Given the description of an element on the screen output the (x, y) to click on. 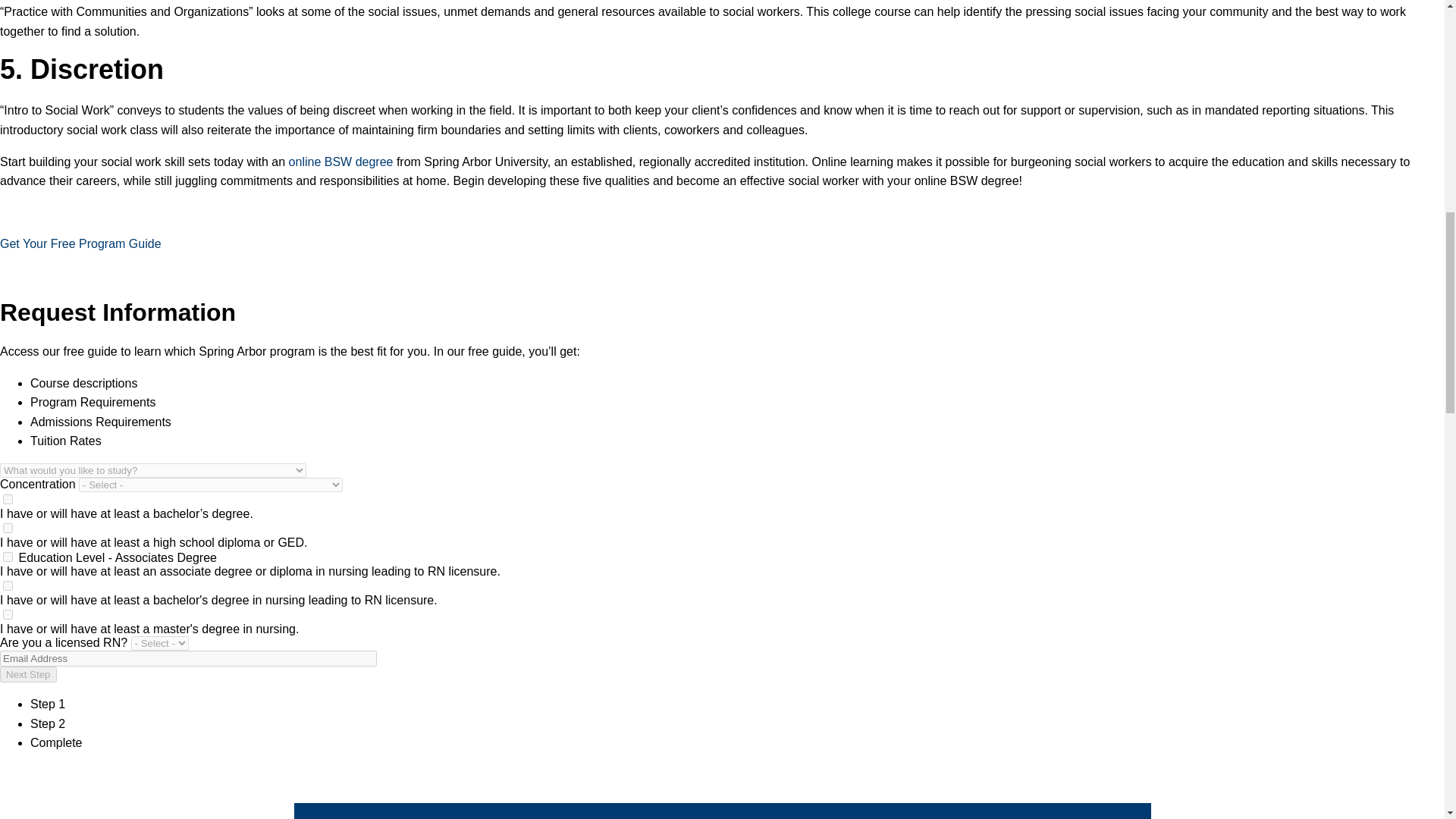
Next Step (28, 674)
Next Step (28, 674)
1 (7, 528)
1 (7, 614)
1 (7, 499)
Get Your Free Program Guide (80, 243)
1 (7, 556)
1 (7, 585)
online BSW degree (340, 161)
